Given the description of an element on the screen output the (x, y) to click on. 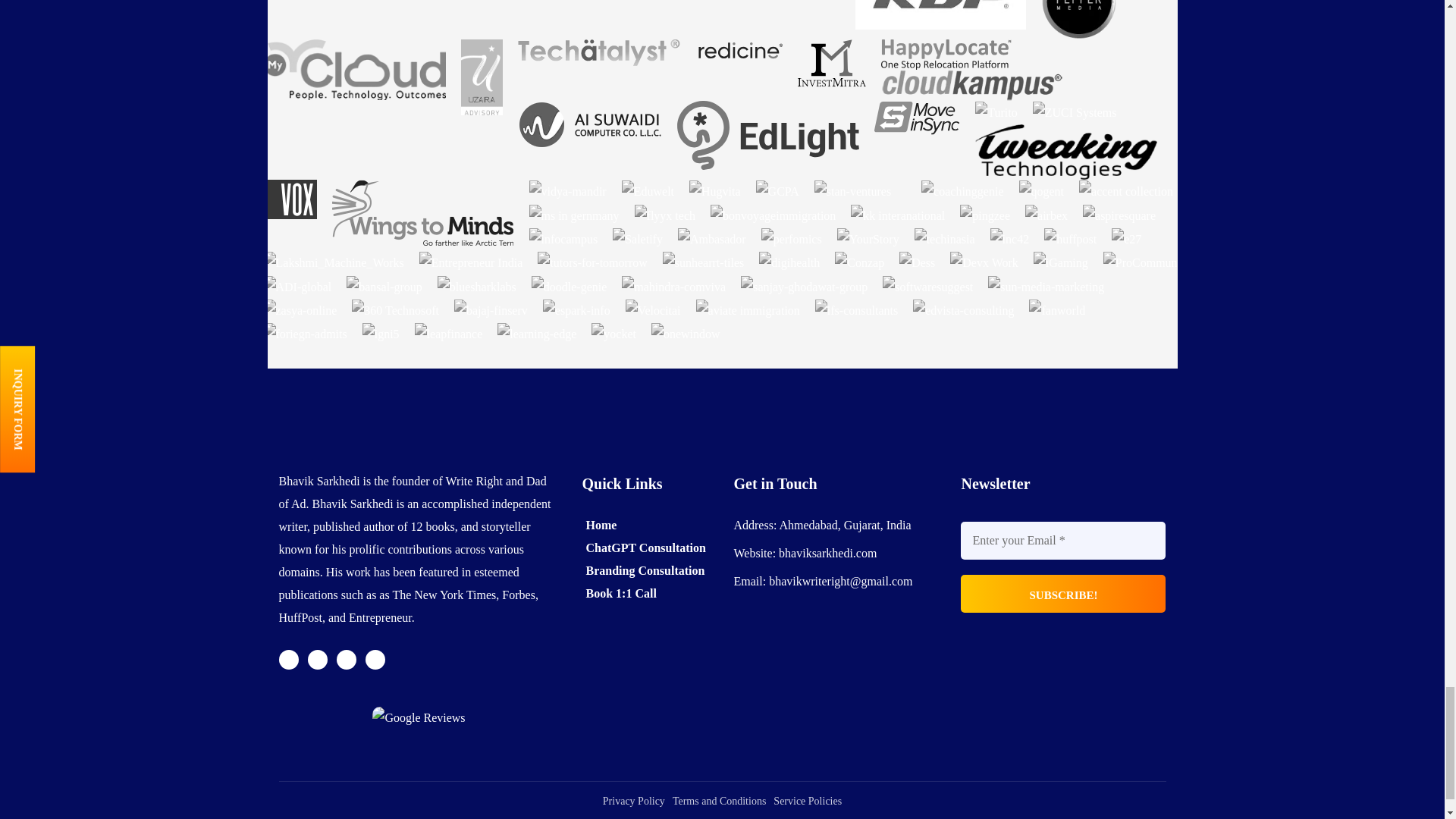
Instagram (346, 659)
Facebook (317, 659)
Subscribe! (1063, 593)
Linkedin (375, 659)
Enter your Email (1063, 540)
Twitter (288, 659)
